Given the description of an element on the screen output the (x, y) to click on. 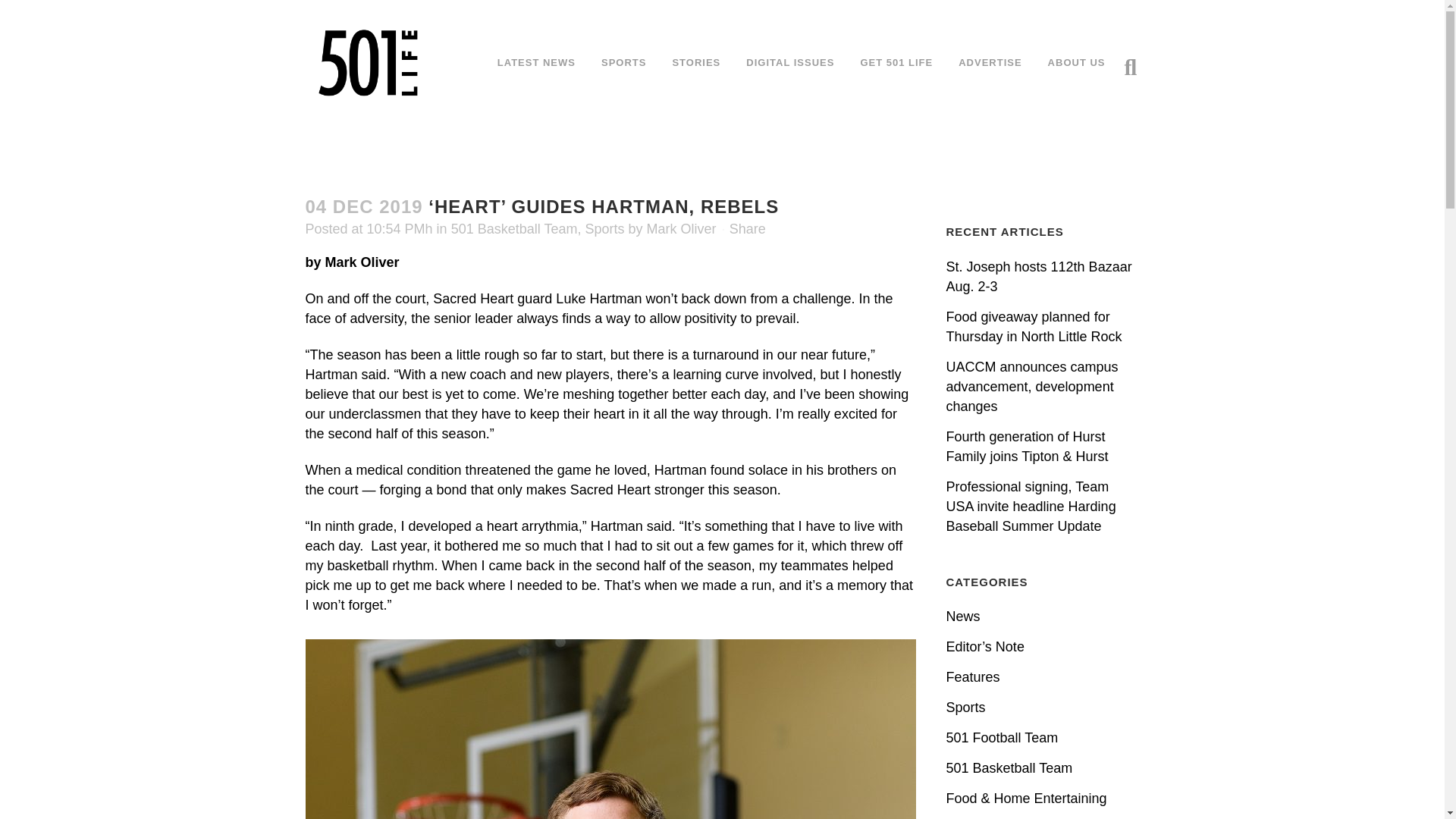
ADVERTISE (988, 62)
ABOUT US (1076, 62)
STORIES (696, 62)
LATEST NEWS (536, 62)
DIGITAL ISSUES (790, 62)
GET 501 LIFE (895, 62)
SPORTS (623, 62)
